Given the description of an element on the screen output the (x, y) to click on. 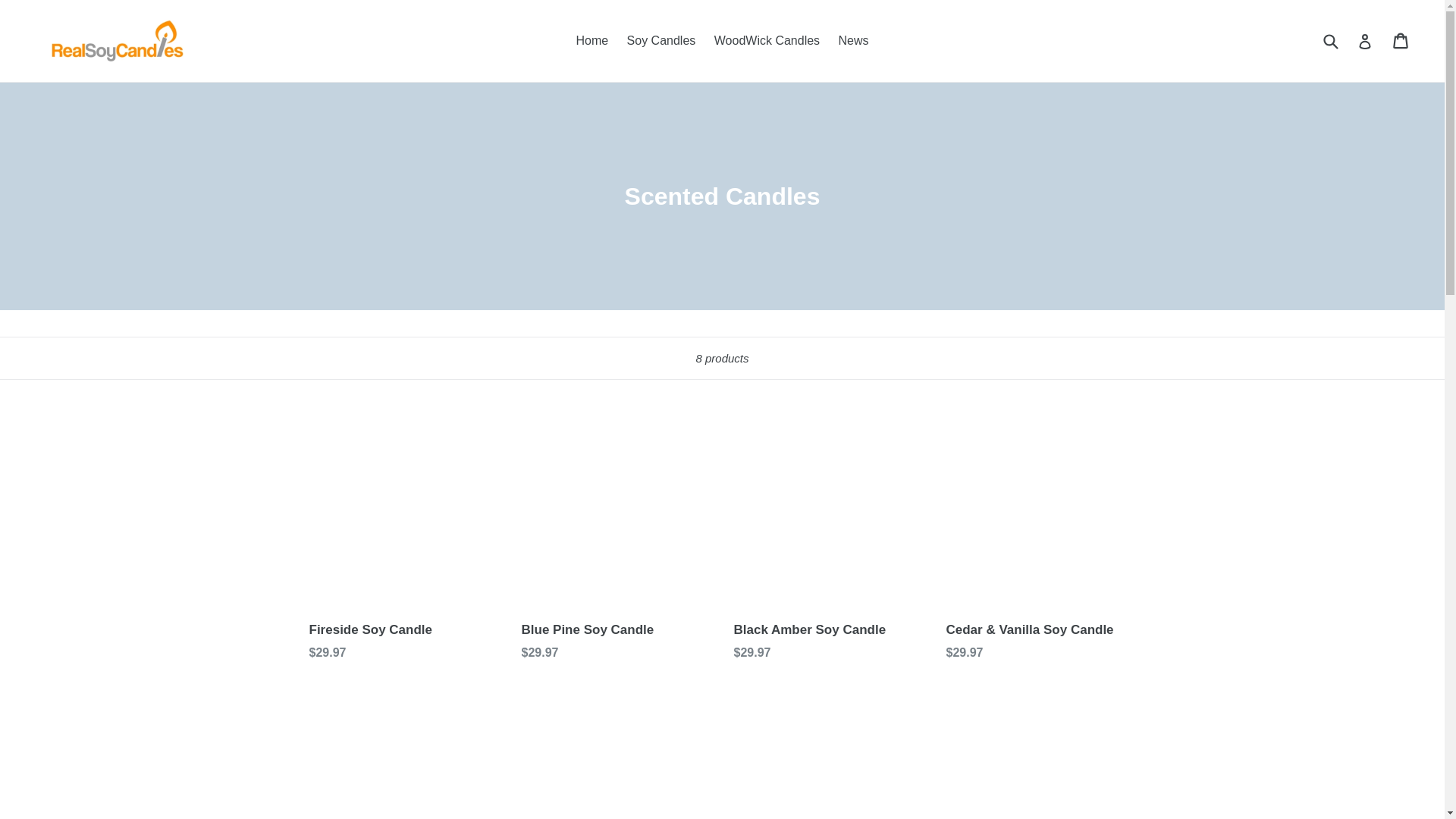
News (853, 40)
Home (591, 40)
WoodWick Candles (766, 40)
Soy Candles (661, 40)
